Given the description of an element on the screen output the (x, y) to click on. 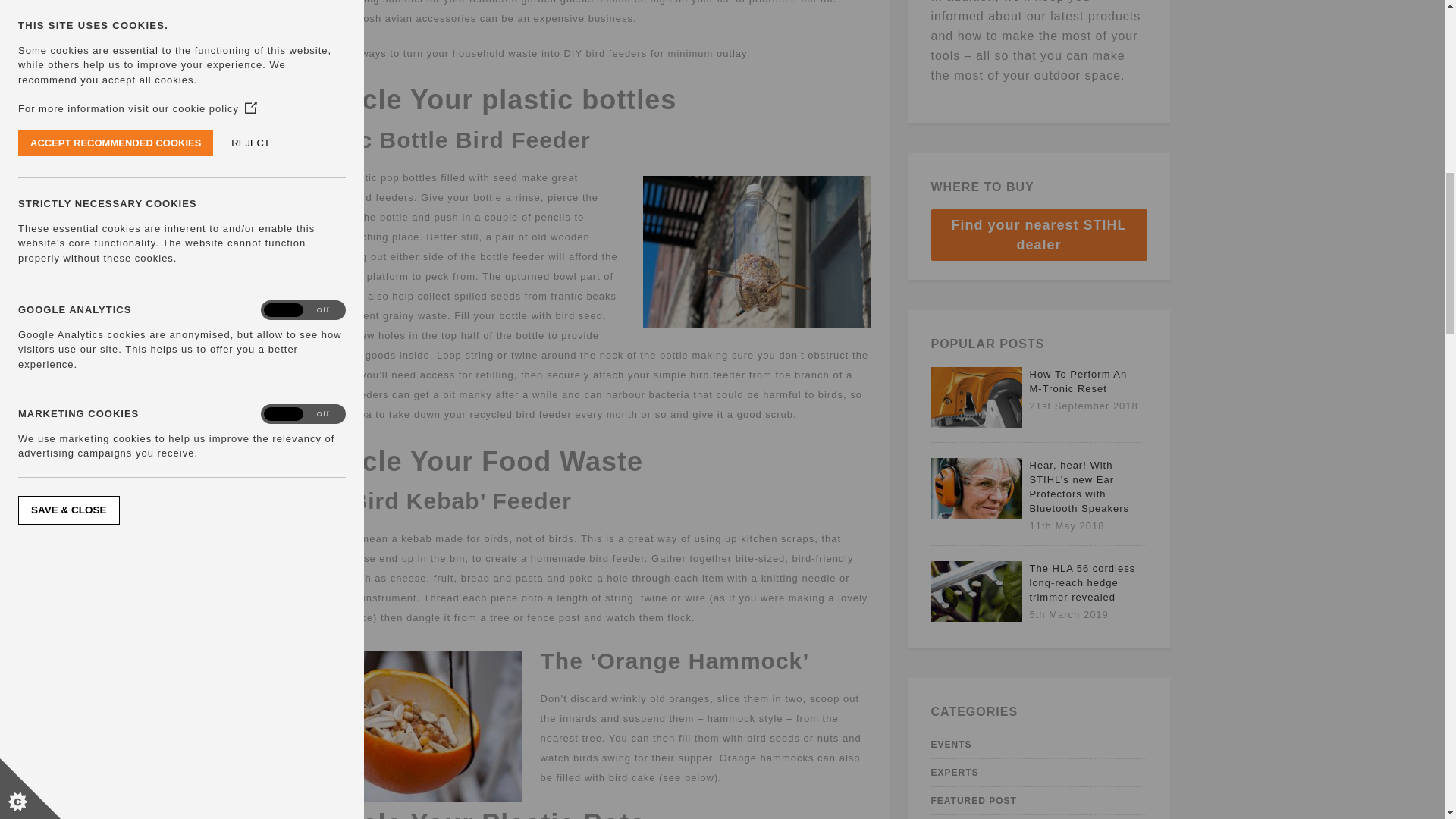
Permanent Link to How To Perform An M-Tronic Reset (1077, 380)
Permanent Link to How To Perform An M-Tronic Reset (976, 423)
